Given the description of an element on the screen output the (x, y) to click on. 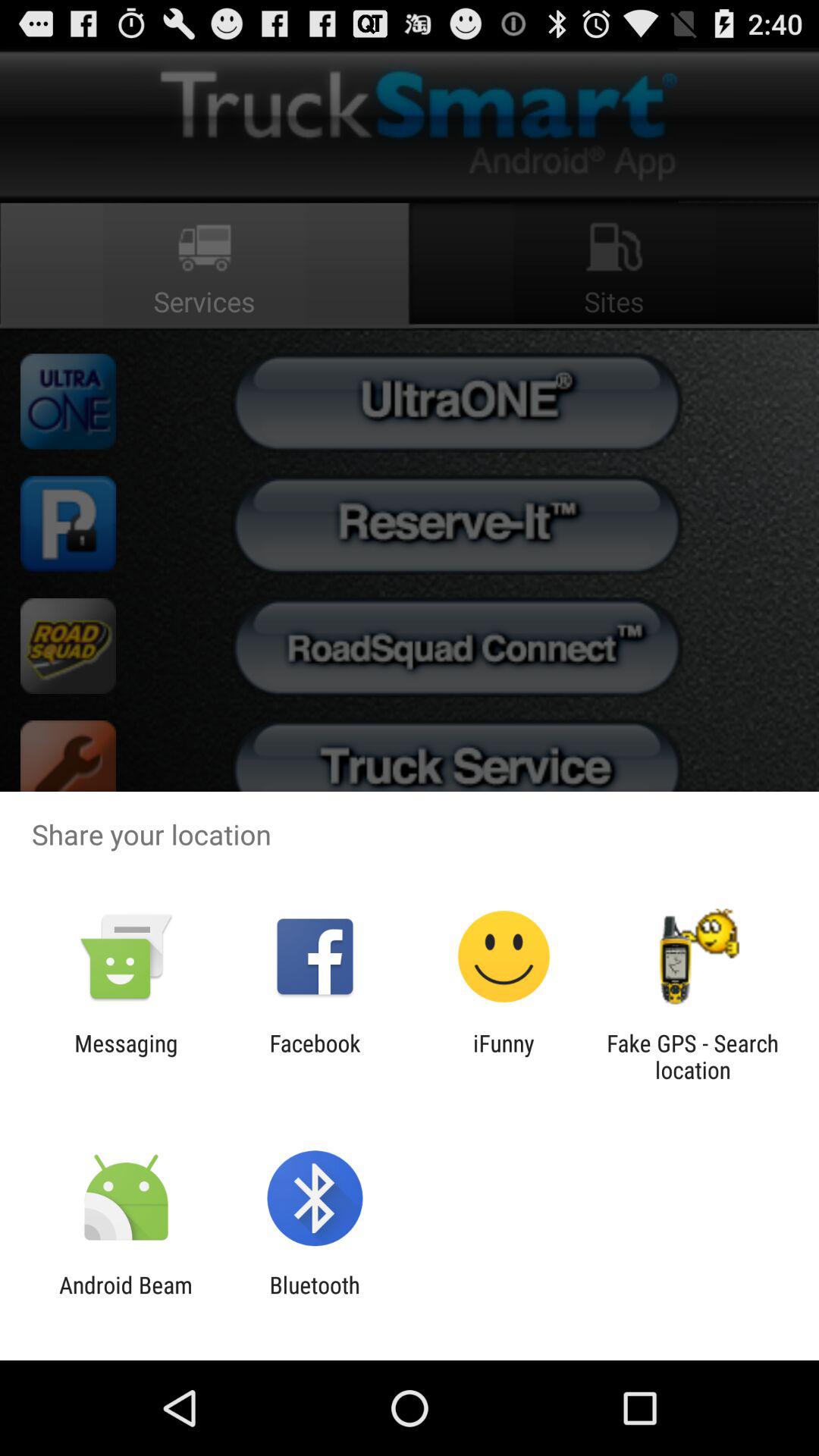
open the item to the left of the ifunny item (314, 1056)
